Given the description of an element on the screen output the (x, y) to click on. 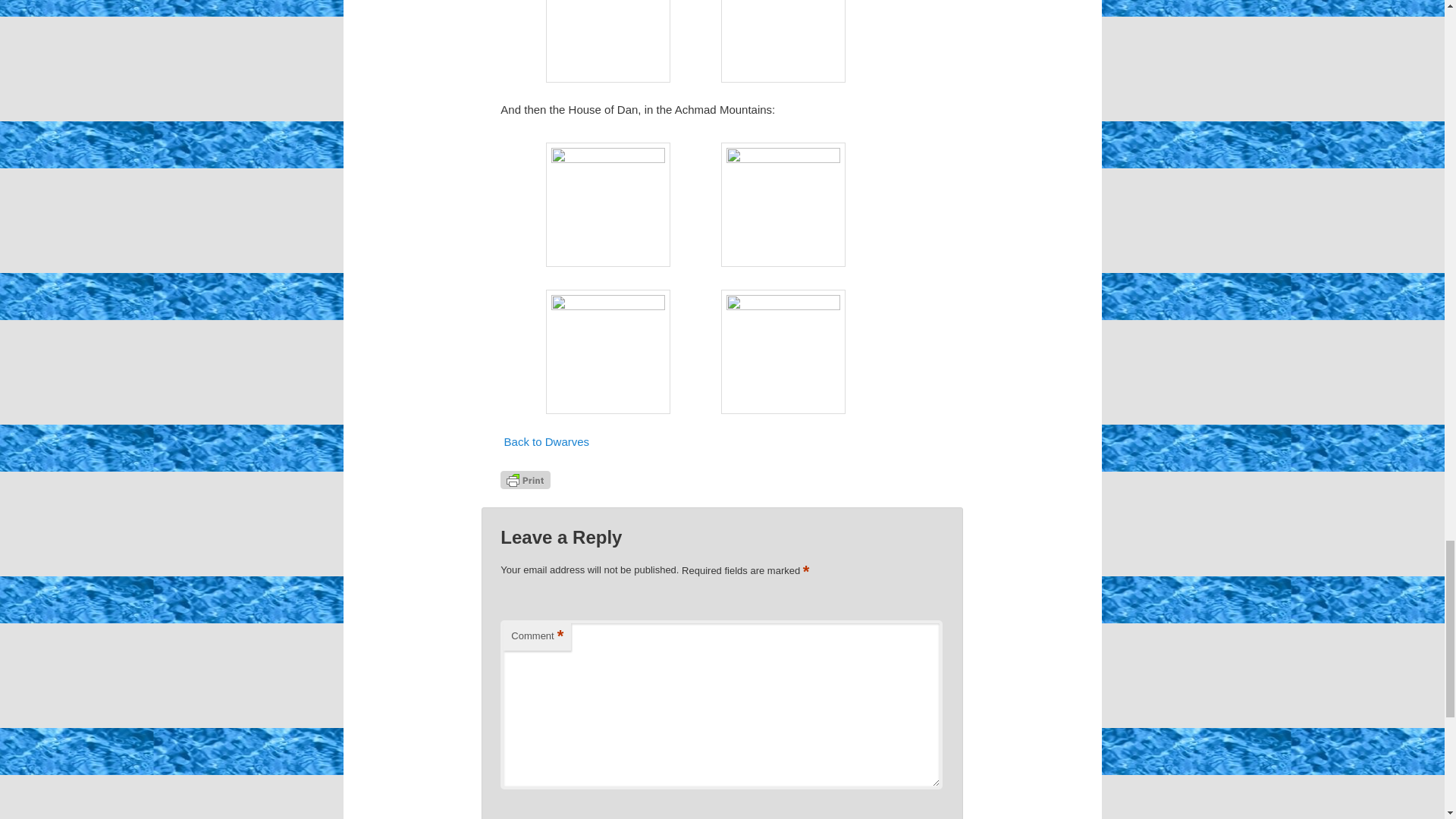
dwarf king highpeak 5 (607, 41)
Dwarves (546, 440)
dwarf king achmad cont 2 (607, 351)
dwarf king achmad cont 1 (782, 204)
dwarf king highpeak 6 (782, 41)
dwarf king achmad cont 3 (782, 351)
dwarf king achmad root (607, 204)
